Given the description of an element on the screen output the (x, y) to click on. 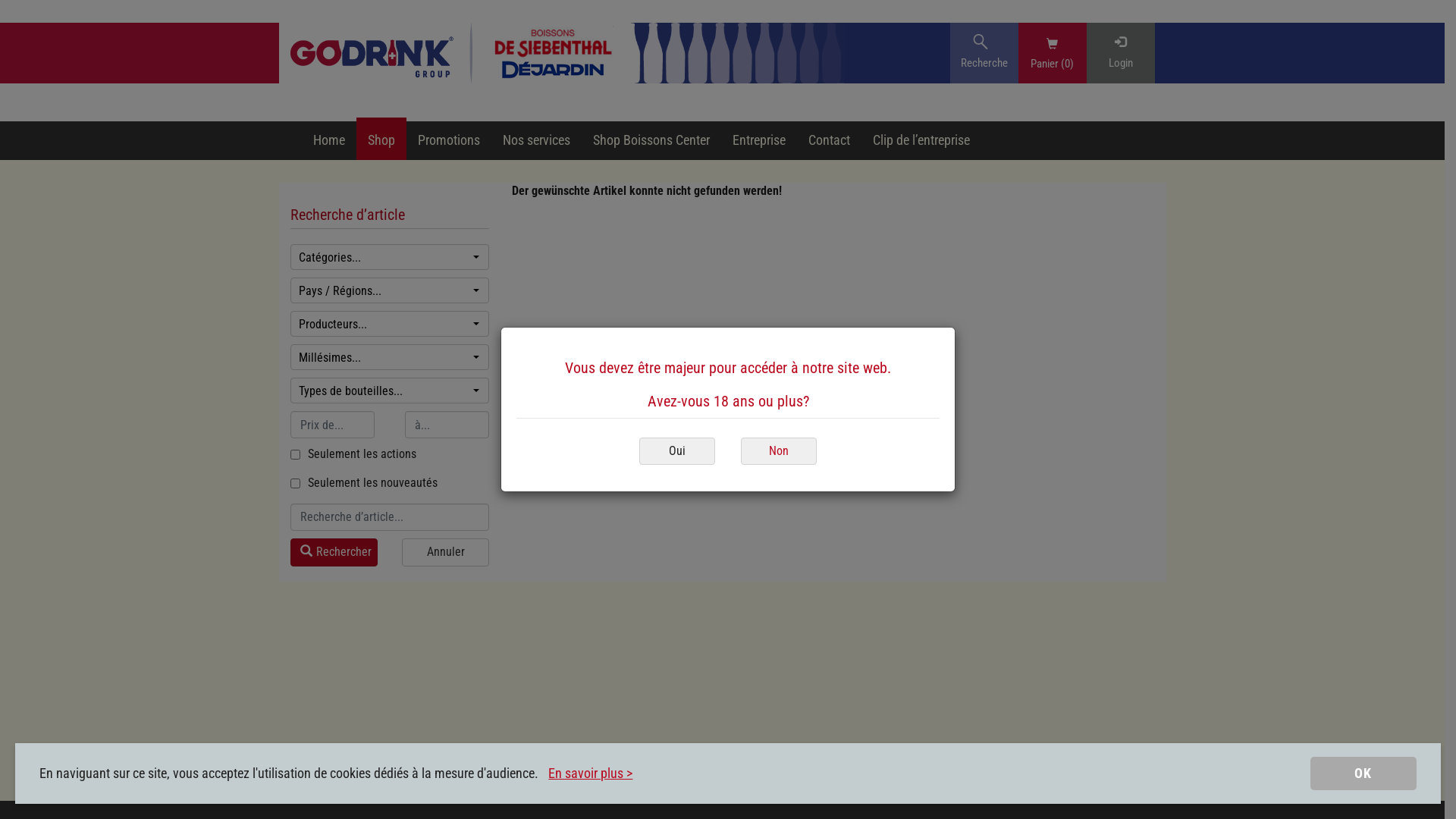
Nos services Element type: text (536, 140)
Promotions Element type: text (448, 140)
Producteurs... Element type: text (389, 323)
Annuler Element type: text (445, 552)
Oui Element type: text (677, 451)
Non Element type: text (778, 449)
OK Element type: text (1363, 773)
Non Element type: text (778, 451)
Shop Boissons Center Element type: text (650, 140)
Shop Element type: text (381, 140)
Types de bouteilles... Element type: text (389, 390)
Rechercher Element type: text (332, 552)
Contact Element type: text (828, 140)
Panier (0) Element type: text (1051, 62)
Entreprise Element type: text (758, 140)
Login Element type: text (1119, 52)
En savoir plus > Element type: text (590, 773)
Home Element type: text (328, 140)
